Given the description of an element on the screen output the (x, y) to click on. 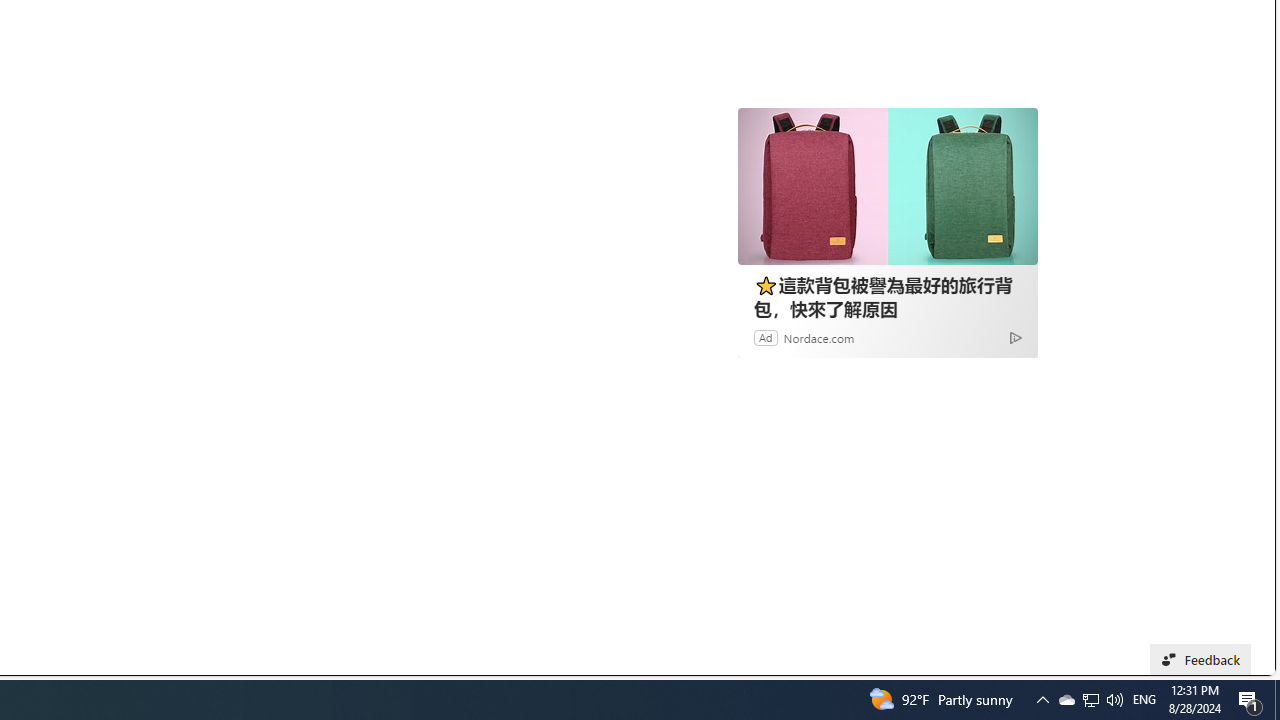
Nordace.com (819, 337)
